Given the description of an element on the screen output the (x, y) to click on. 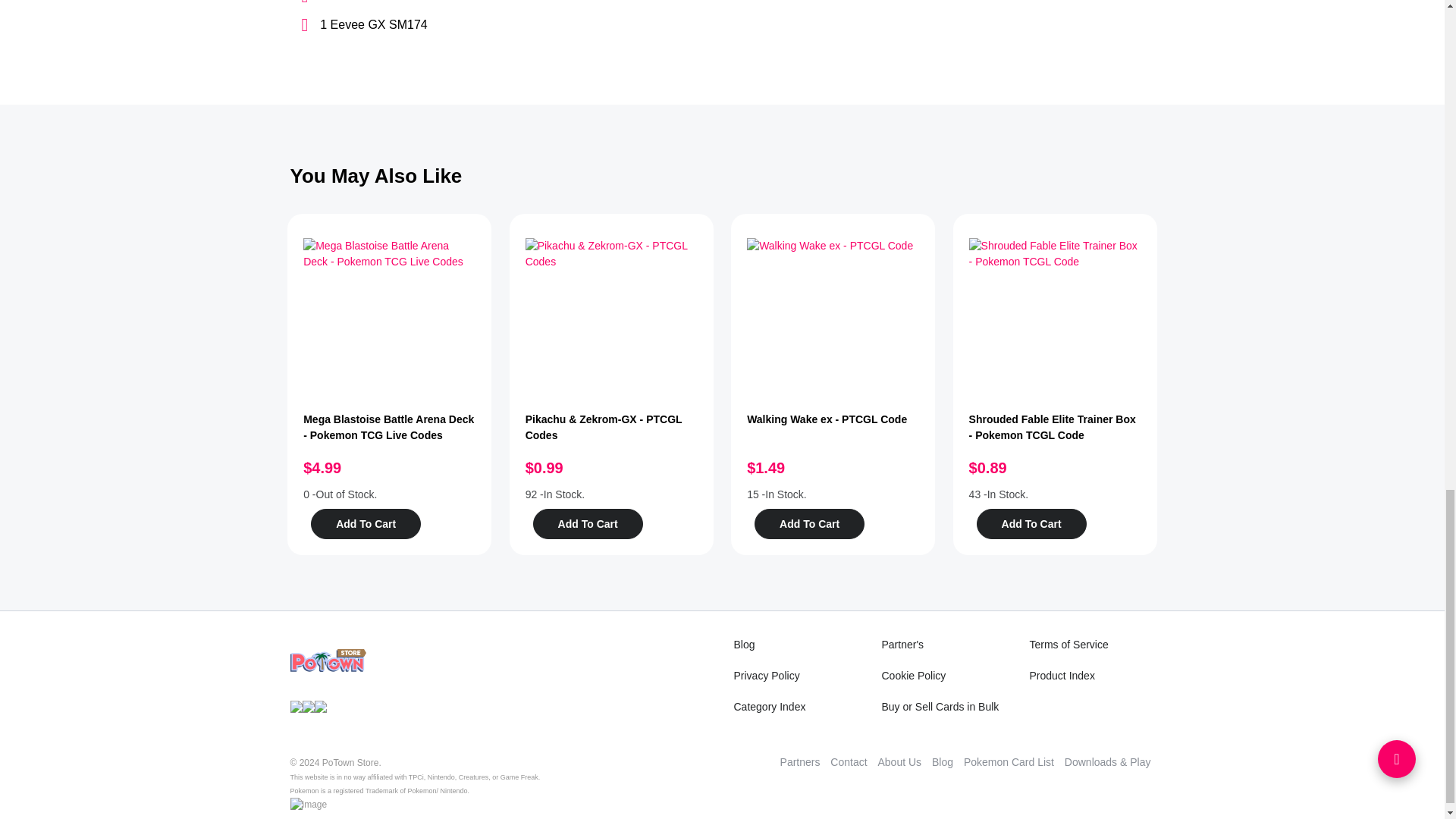
Follow Us on Instagram (320, 705)
Like Us on Facebook (295, 705)
Follow Us on Twitter (307, 705)
